Given the description of an element on the screen output the (x, y) to click on. 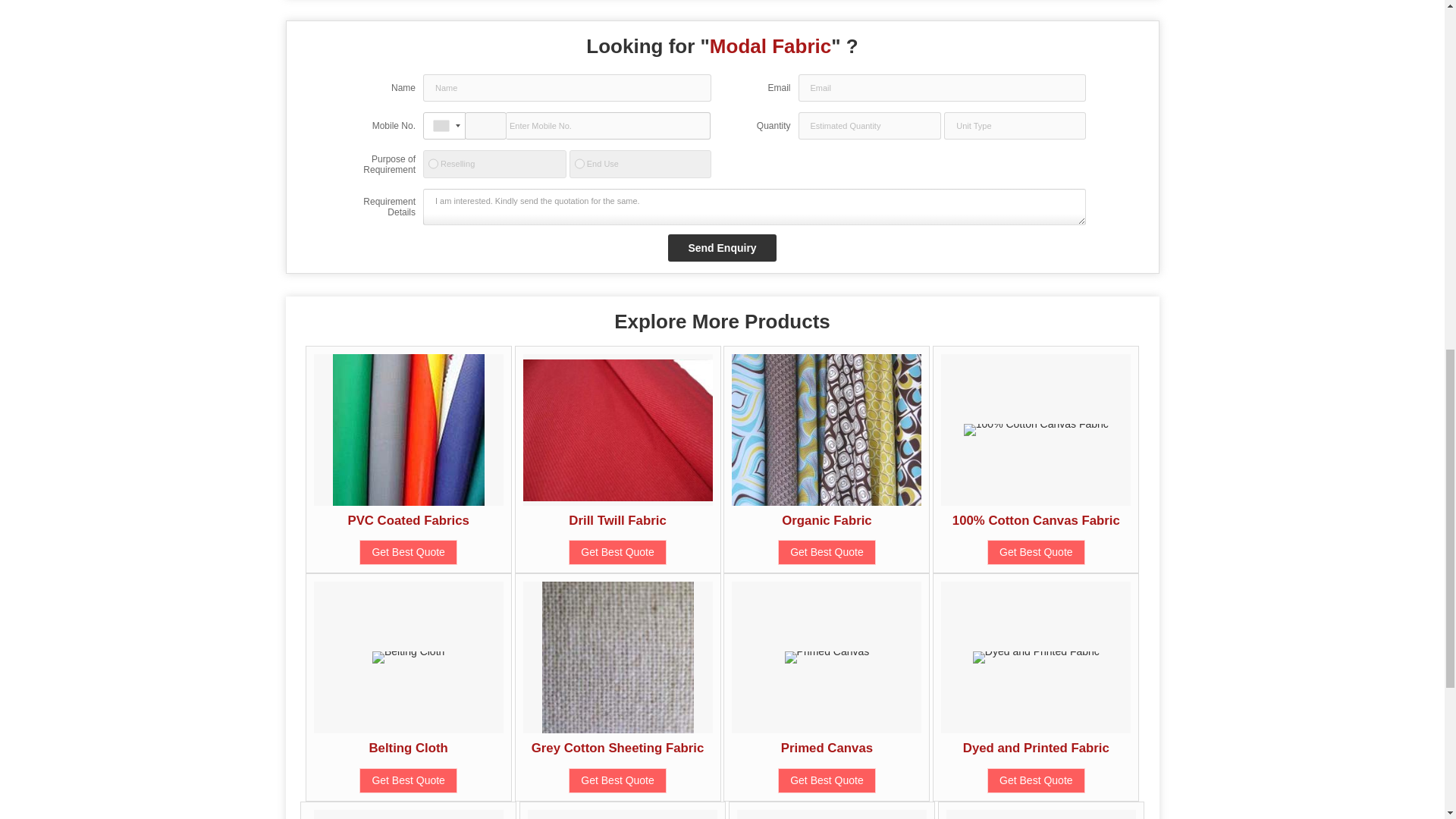
PVC Coated Fabrics (407, 520)
Send Enquiry (722, 247)
Get Best Quote (408, 552)
Send Enquiry (722, 247)
